Given the description of an element on the screen output the (x, y) to click on. 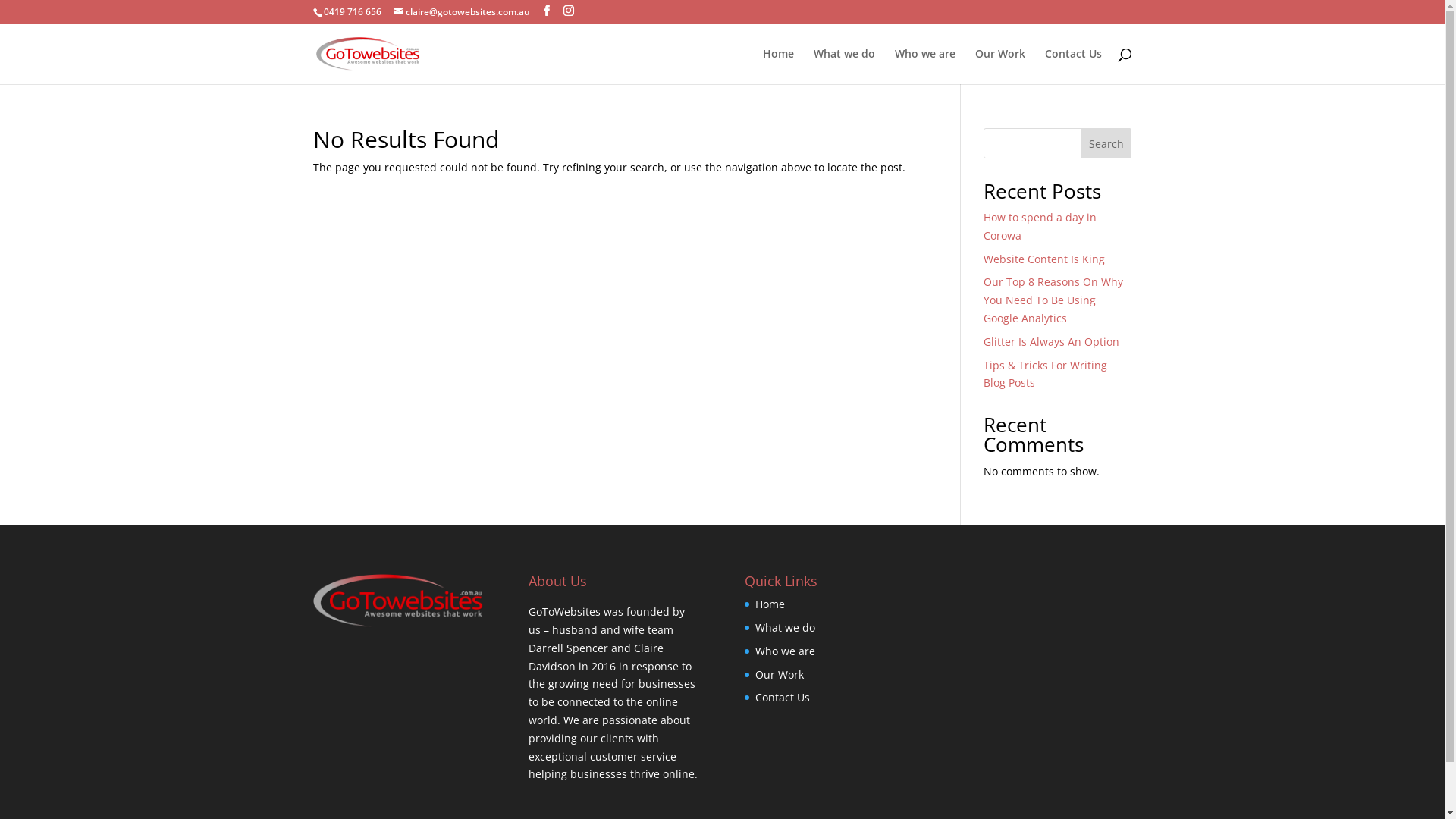
Who we are Element type: text (924, 66)
Search Element type: text (1106, 143)
Website Content Is King Element type: text (1043, 258)
Home Element type: text (769, 603)
Tips & Tricks For Writing Blog Posts Element type: text (1045, 373)
What we do Element type: text (785, 627)
Our Work Element type: text (1000, 66)
How to spend a day in Corowa Element type: text (1039, 226)
Home Element type: text (777, 66)
What we do Element type: text (843, 66)
Glitter Is Always An Option Element type: text (1051, 341)
Our Work Element type: text (779, 674)
Contact Us Element type: text (782, 697)
claire@gotowebsites.com.au Element type: text (460, 11)
Who we are Element type: text (785, 650)
Contact Us Element type: text (1072, 66)
